Given the description of an element on the screen output the (x, y) to click on. 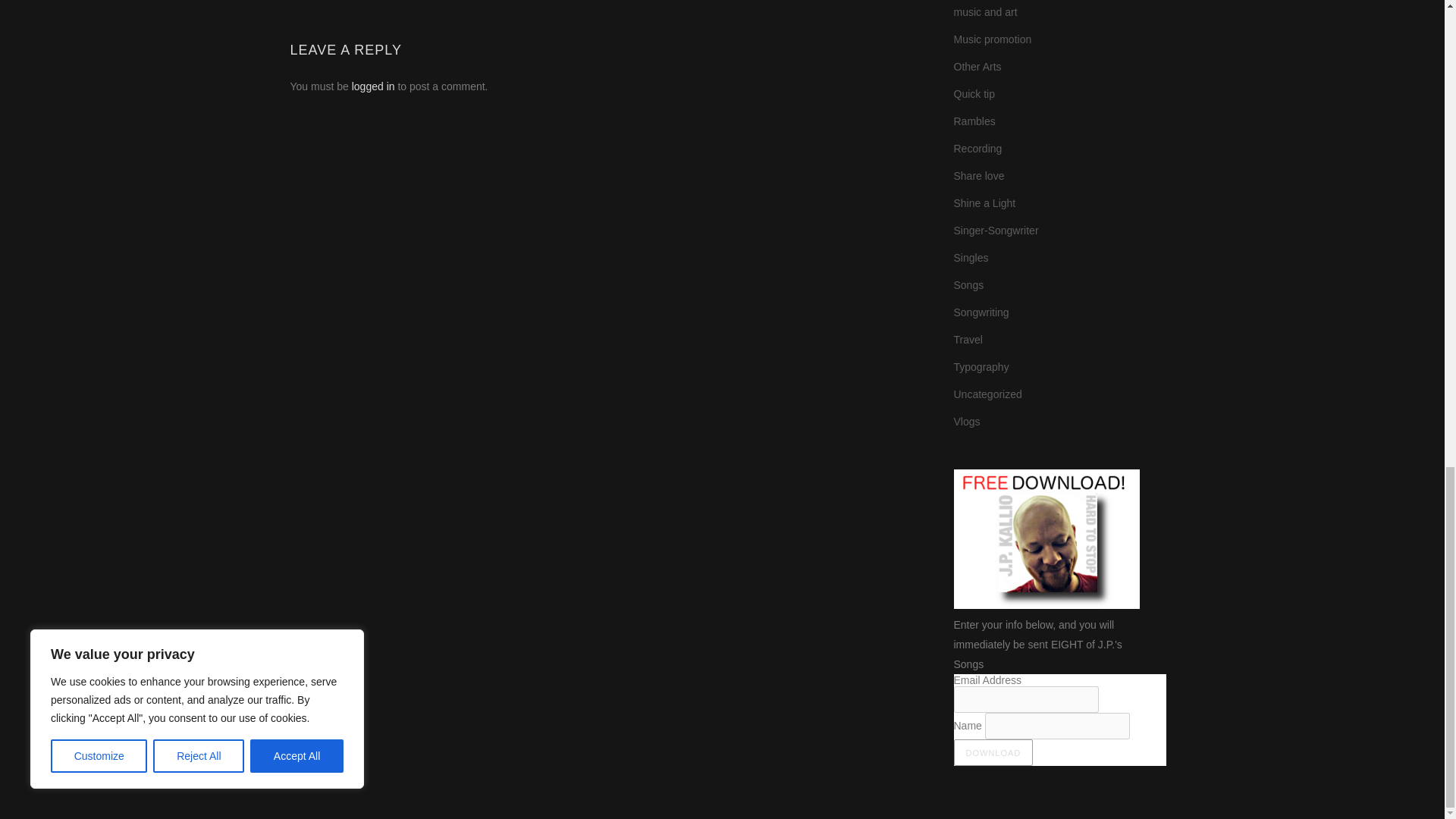
Download (993, 752)
